Given the description of an element on the screen output the (x, y) to click on. 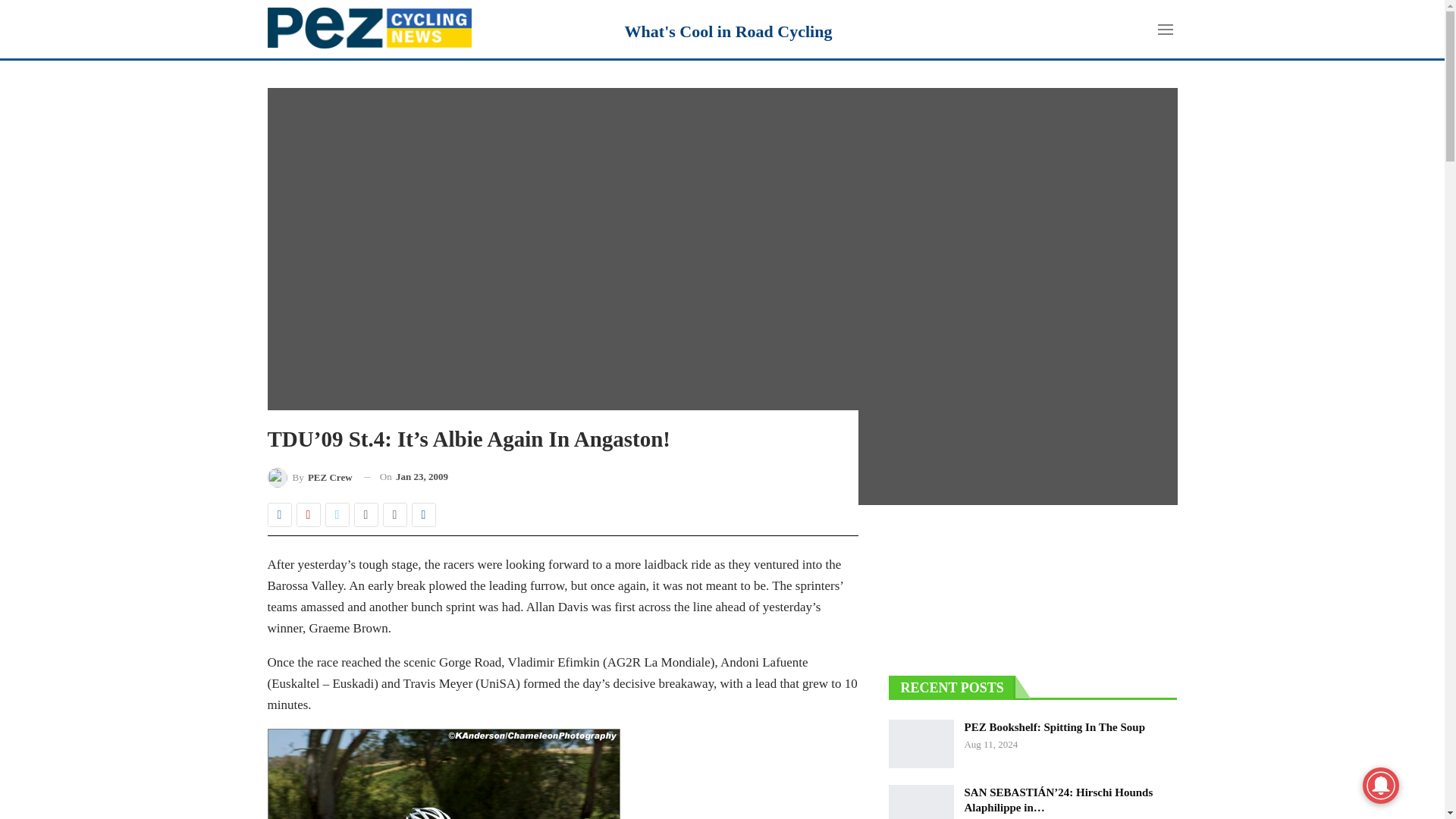
PEZ Bookshelf: Spitting In The Soup (920, 743)
By PEZ Crew (309, 476)
Browse Author Articles (309, 476)
